Given the description of an element on the screen output the (x, y) to click on. 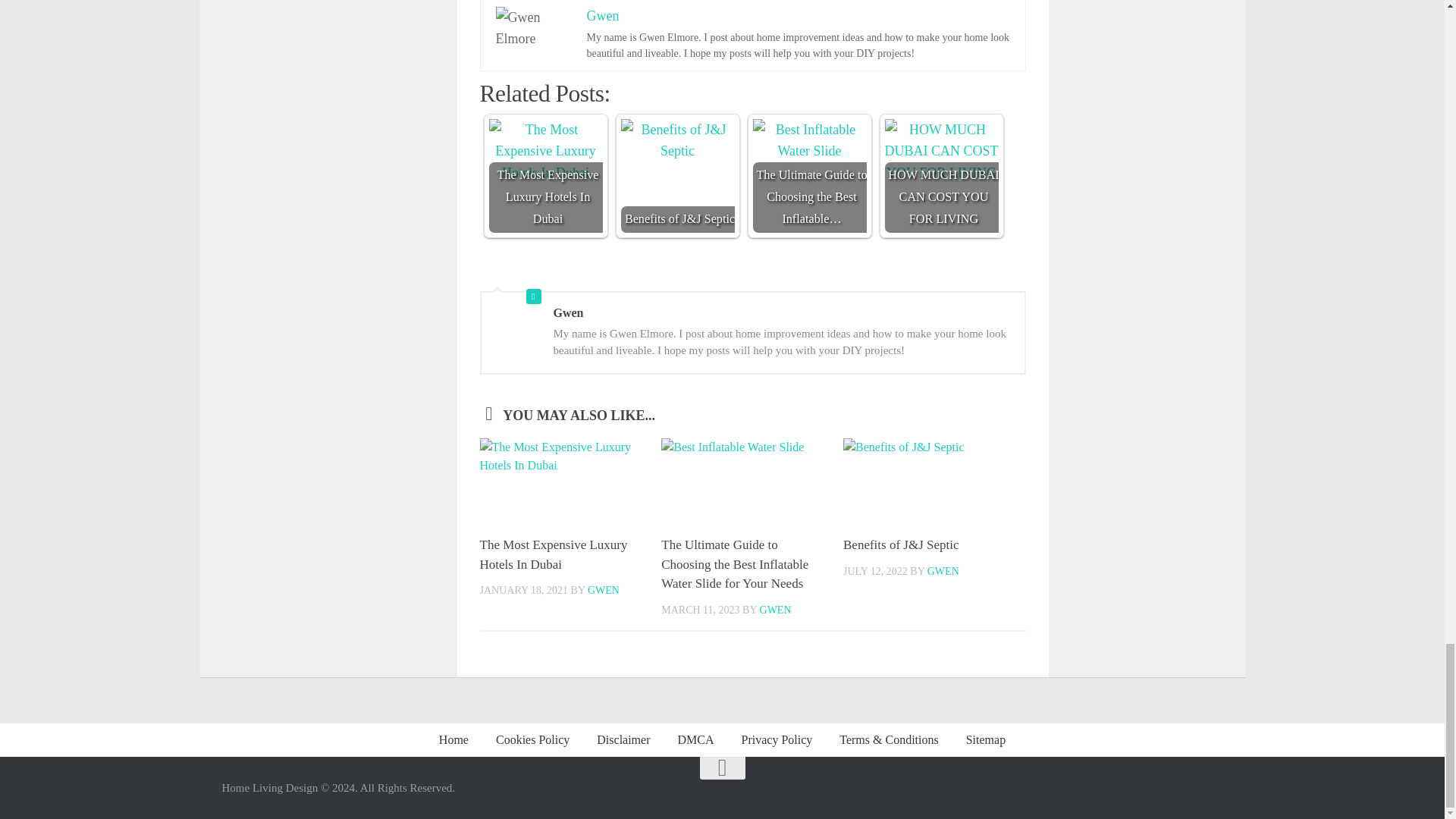
Posts by Gwen (776, 609)
HOW MUCH DUBAI CAN COST YOU FOR LIVING (940, 151)
Best Inflatable Water Slide (752, 480)
Benefits of JJ Septic (934, 480)
Posts by Gwen (943, 571)
The Most Expensive Luxury Hotels In Dubai (544, 151)
The Most Expensive Luxury Hotels In Dubai (570, 480)
Gwen Elmore (534, 28)
Posts by Gwen (604, 590)
